Given the description of an element on the screen output the (x, y) to click on. 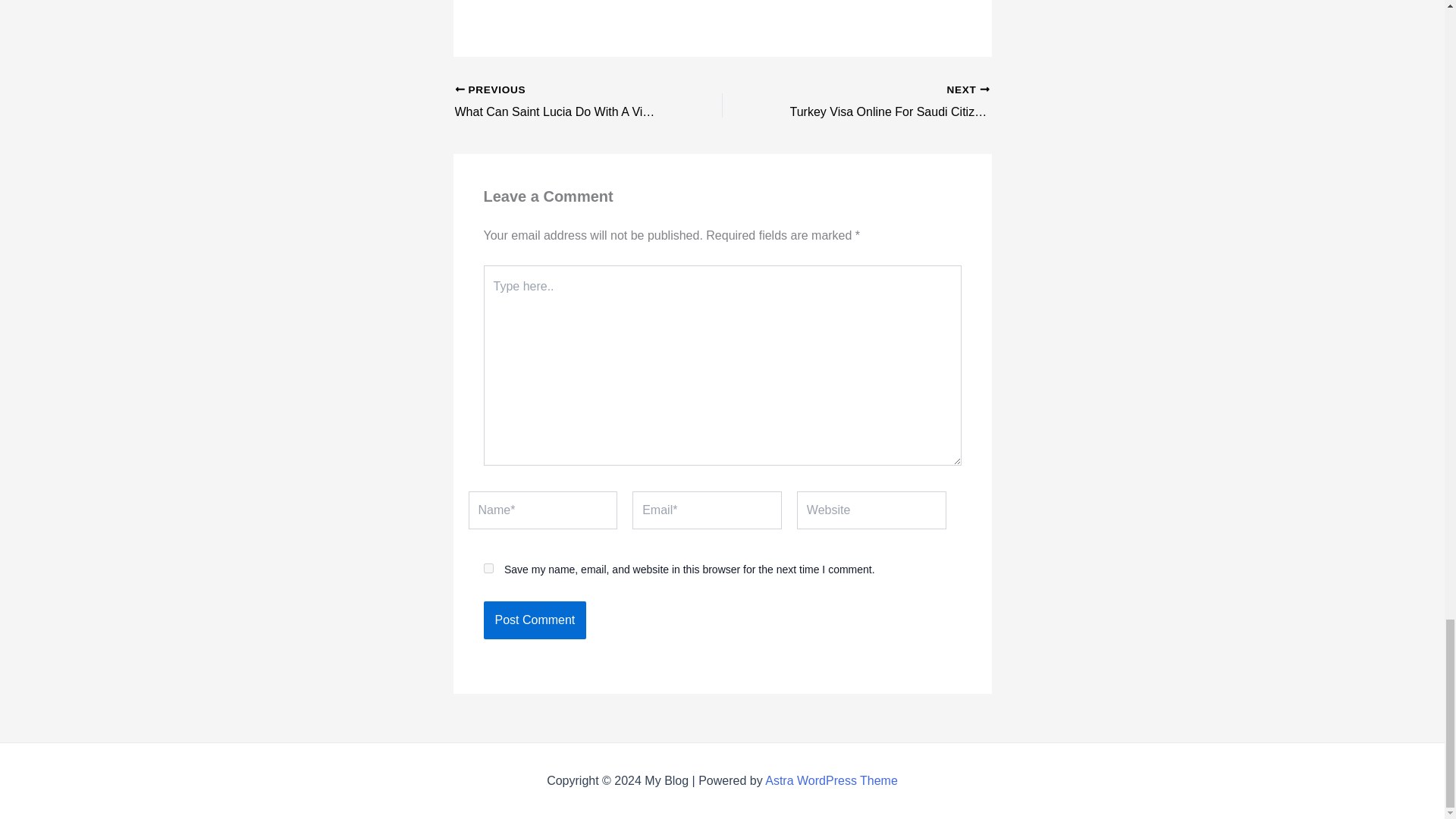
Turkey Visa Online For Saudi Citizens (882, 102)
Post Comment (534, 620)
yes (488, 567)
What Can Saint Lucia Do With A Visa To Turkey? (882, 102)
Astra WordPress Theme (561, 102)
Post Comment (831, 780)
